Given the description of an element on the screen output the (x, y) to click on. 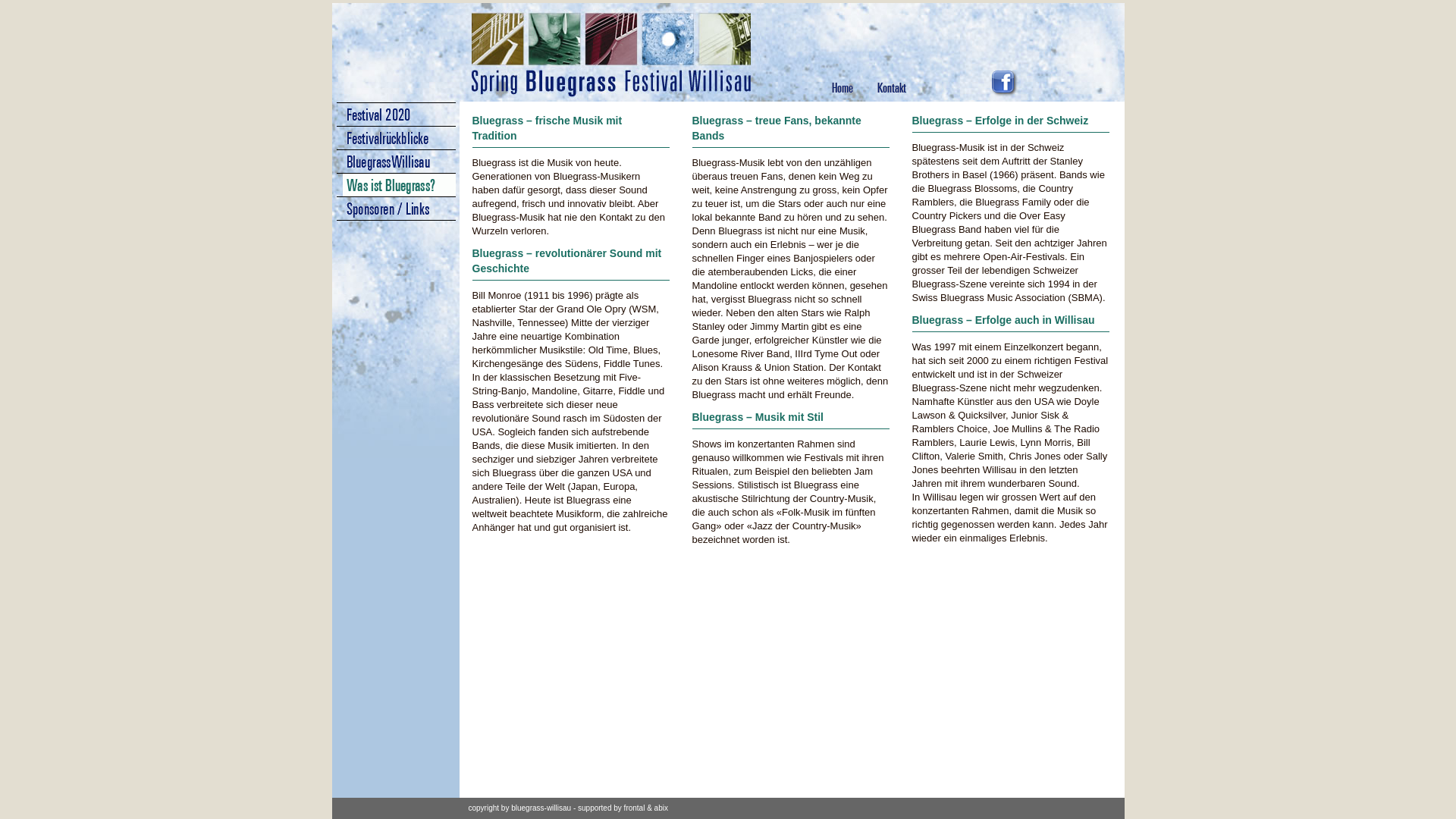
Spring Bluegrass Festival bei Facebook Element type: hover (1004, 83)
